Given the description of an element on the screen output the (x, y) to click on. 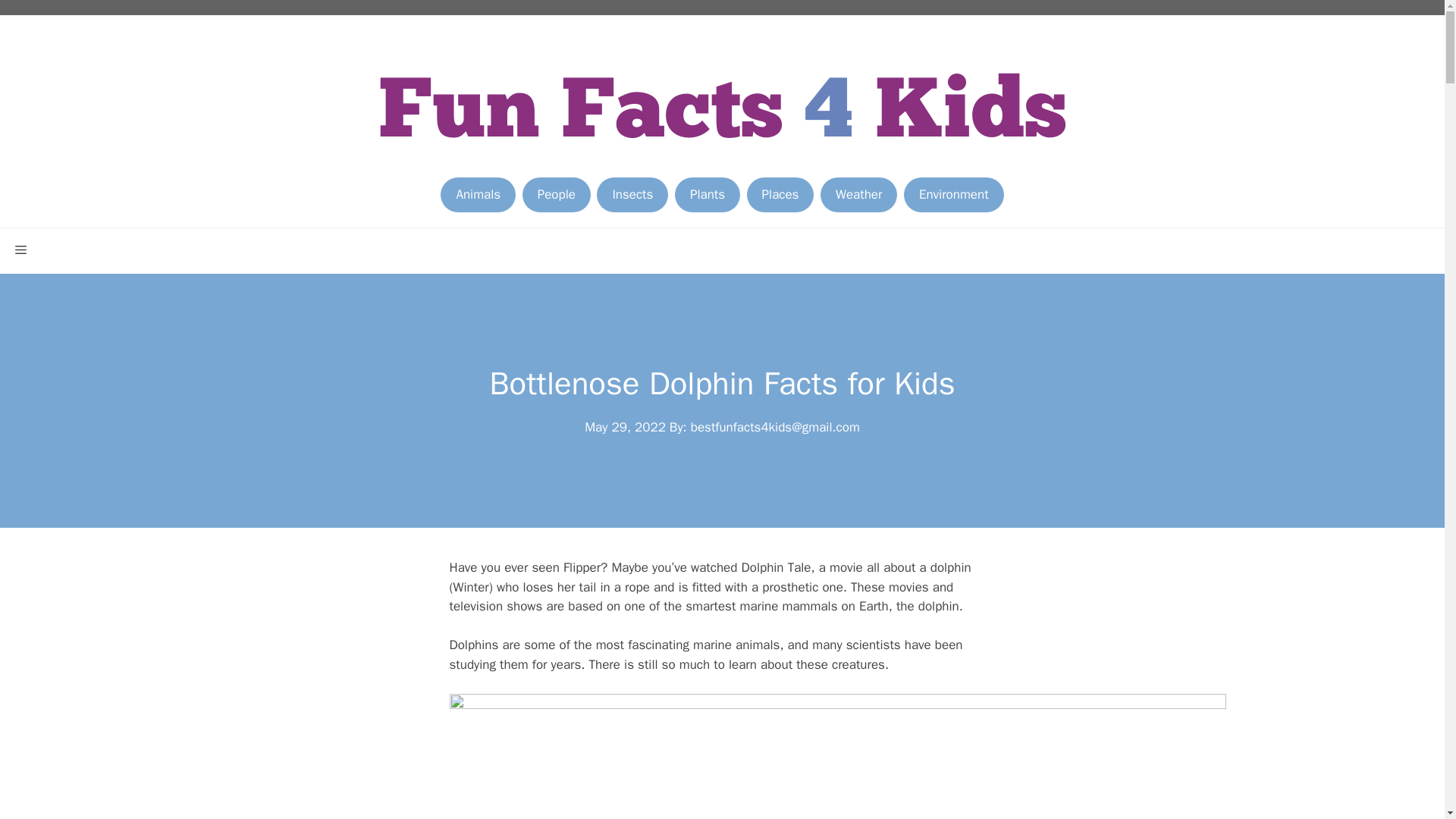
People (556, 194)
Weather (858, 194)
Environment (954, 194)
Plants (707, 194)
Insects (632, 194)
Animals (478, 194)
Places (779, 194)
